Given the description of an element on the screen output the (x, y) to click on. 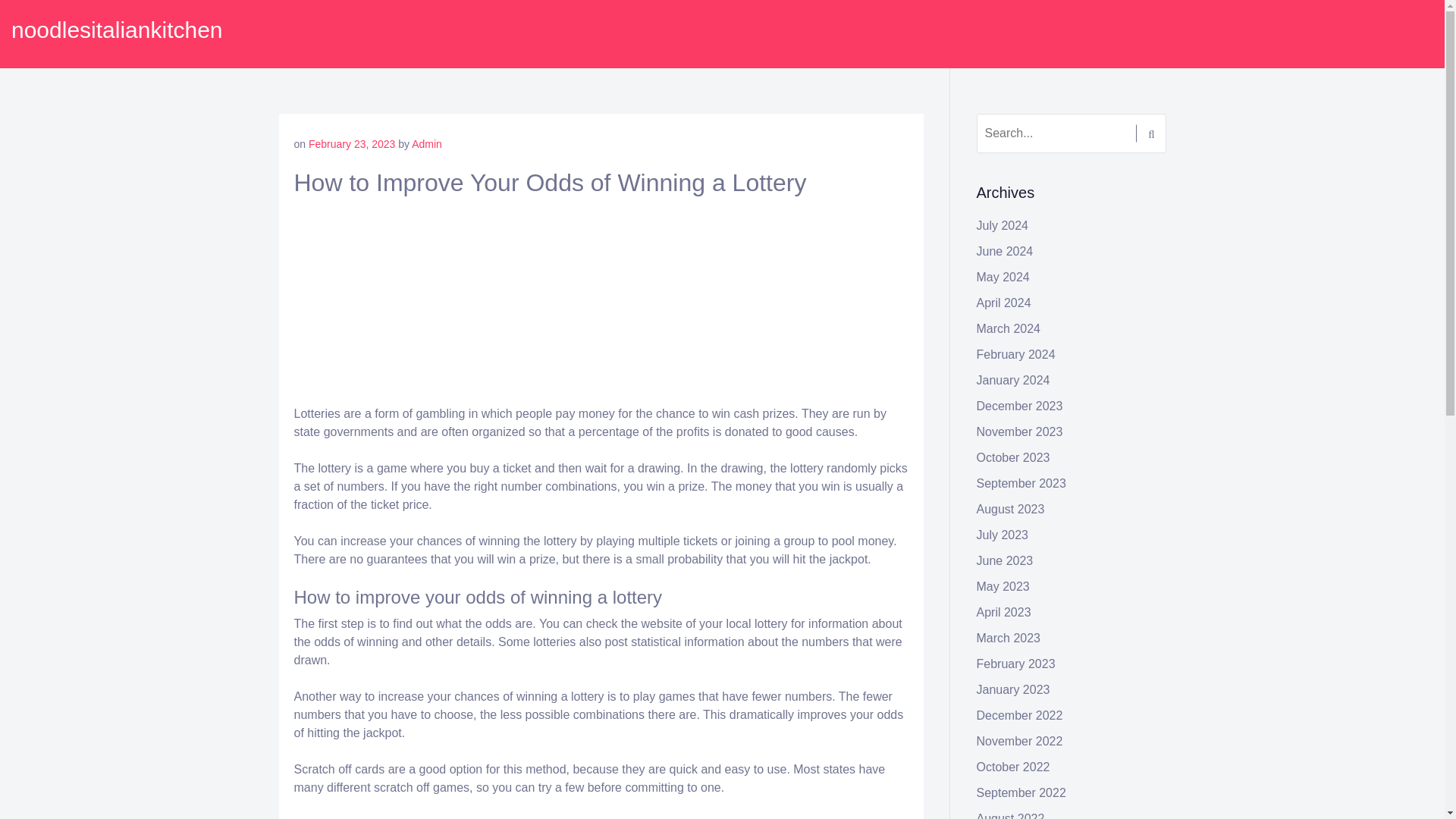
October 2022 (1012, 766)
December 2023 (1019, 405)
January 2023 (1012, 689)
April 2024 (1003, 302)
September 2022 (1020, 792)
August 2023 (1010, 508)
January 2024 (1012, 379)
May 2023 (1002, 585)
June 2023 (1004, 560)
March 2023 (1008, 637)
June 2024 (1004, 250)
October 2023 (1012, 457)
December 2022 (1019, 715)
February 2024 (1015, 354)
November 2022 (1019, 740)
